Given the description of an element on the screen output the (x, y) to click on. 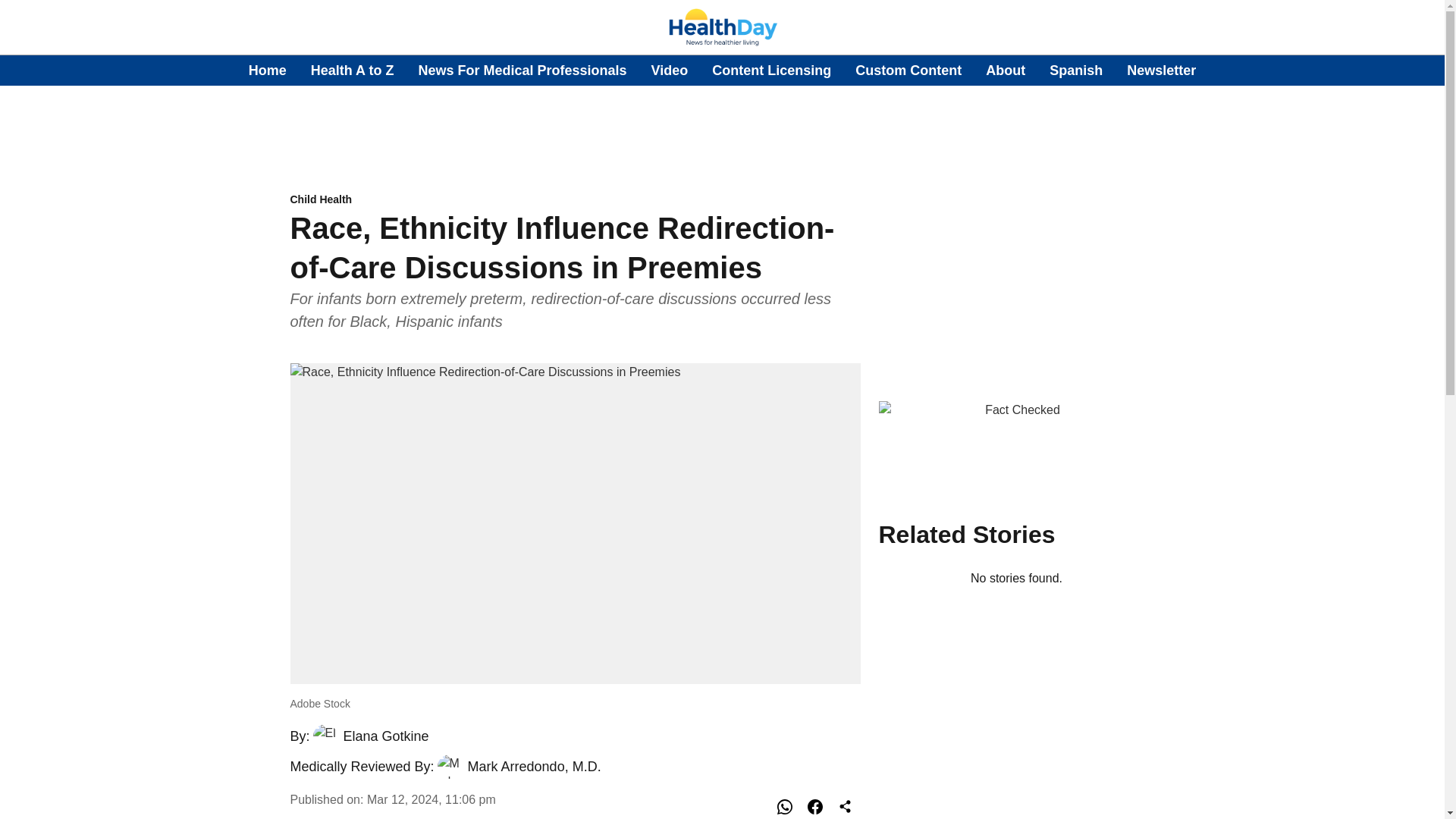
Health A to Z (352, 70)
Home (267, 70)
2024-03-12 15:06 (431, 799)
